Given the description of an element on the screen output the (x, y) to click on. 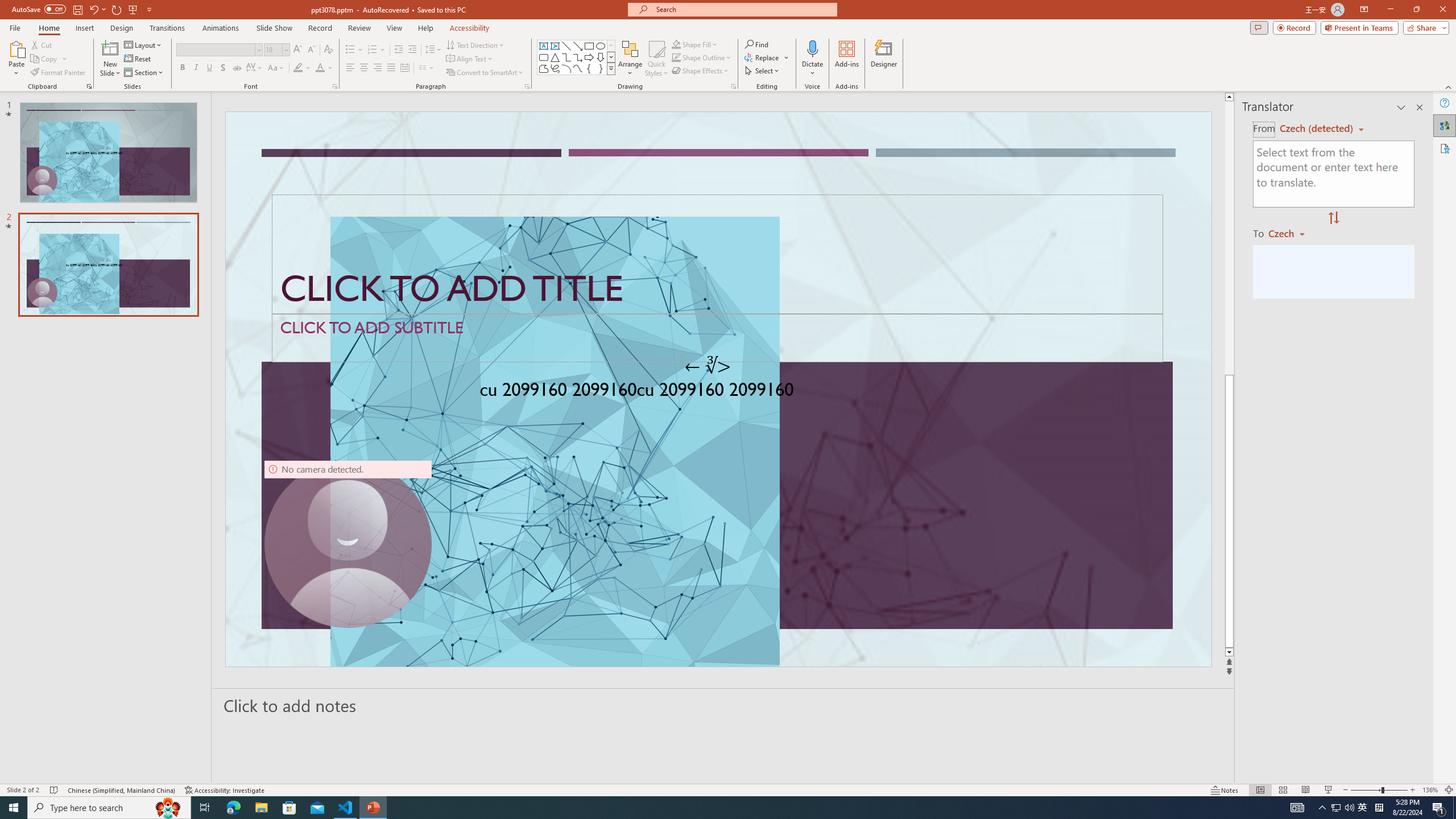
An abstract genetic concept (718, 389)
